Given the description of an element on the screen output the (x, y) to click on. 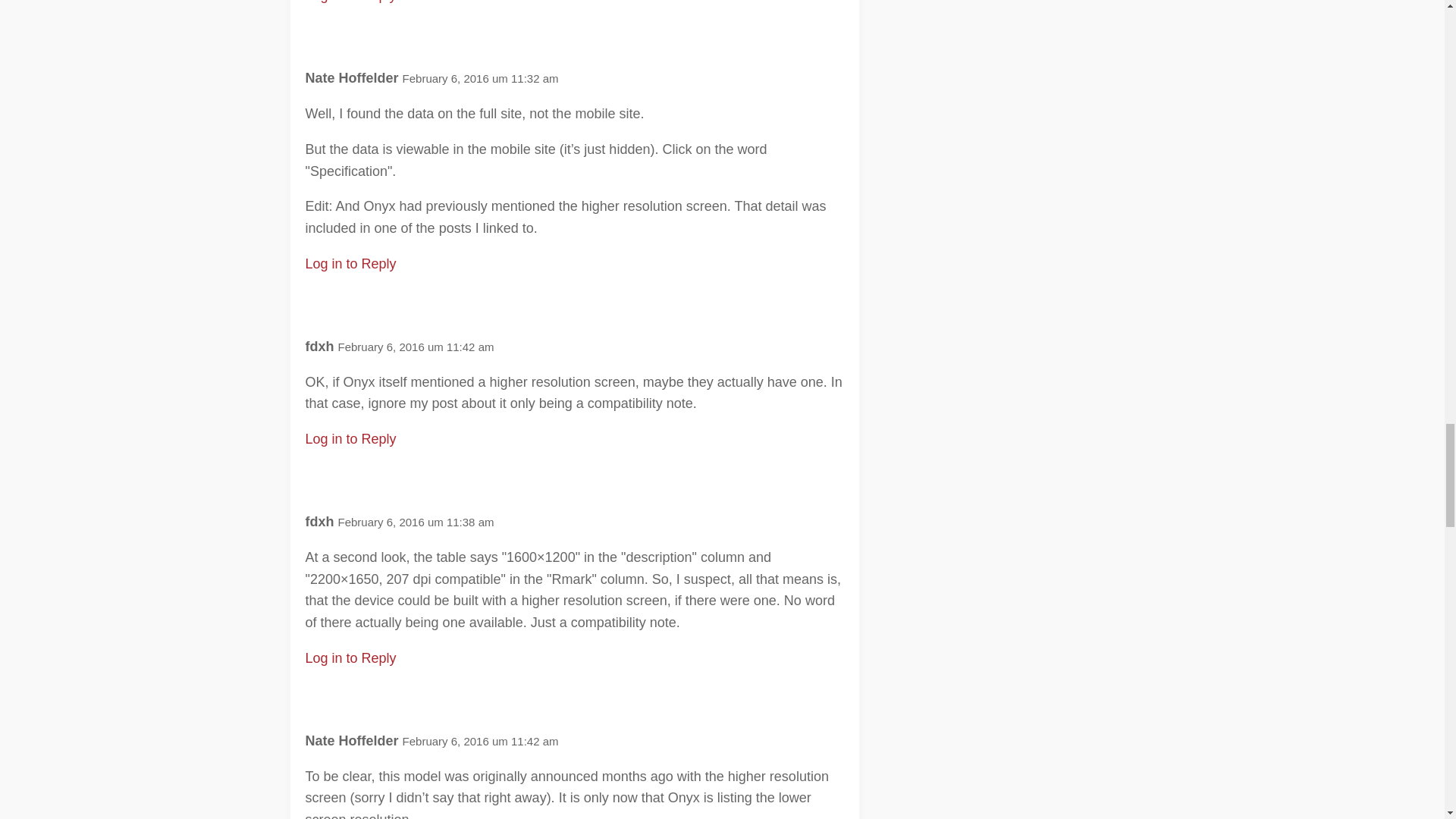
Log in to Reply (350, 657)
Log in to Reply (350, 1)
Log in to Reply (350, 438)
Log in to Reply (350, 263)
